Given the description of an element on the screen output the (x, y) to click on. 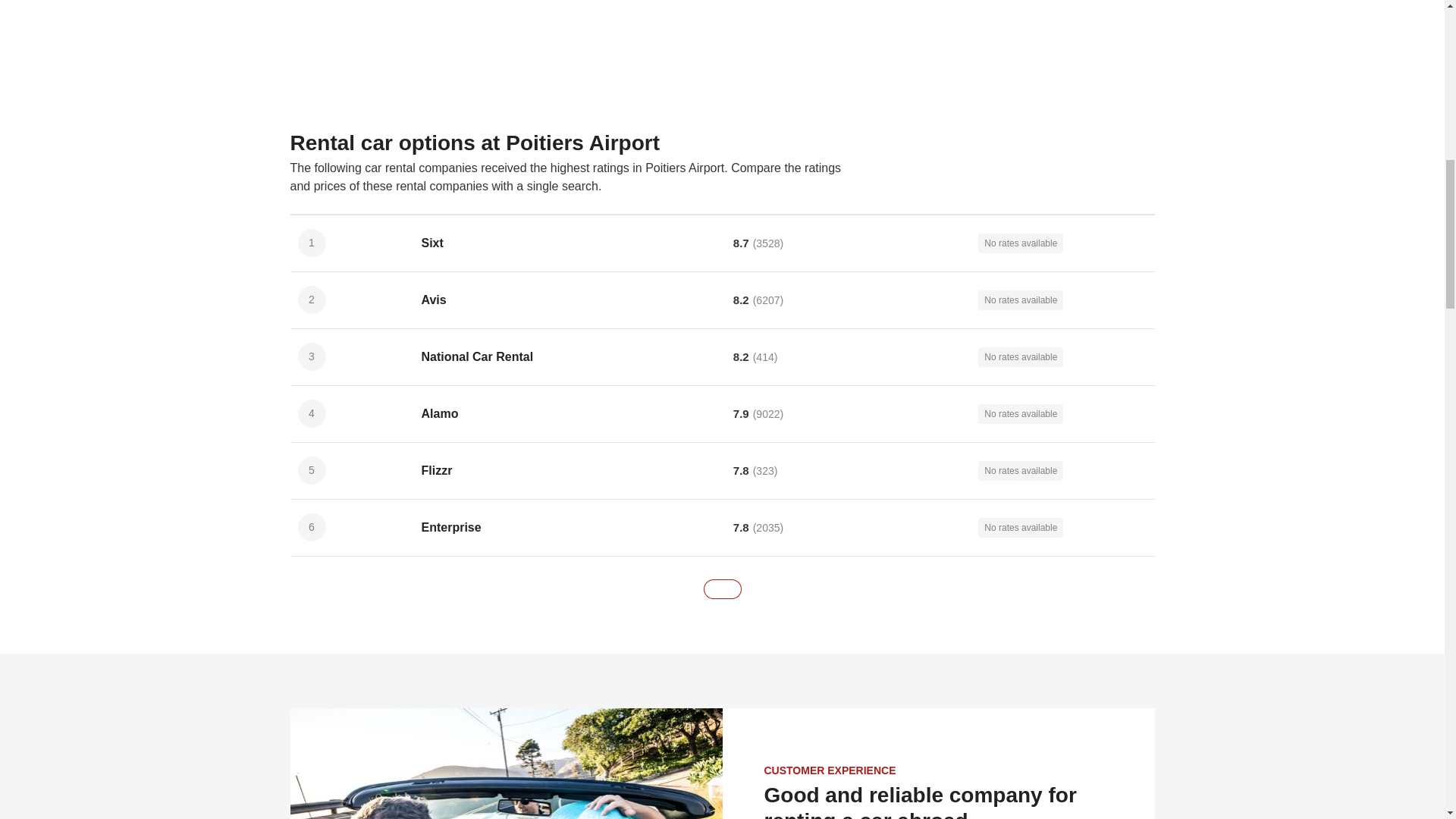
star-solid (668, 243)
star-solid (694, 243)
star-solid (668, 299)
star-solid (708, 243)
star-solid (681, 243)
star-solid (722, 243)
